Given the description of an element on the screen output the (x, y) to click on. 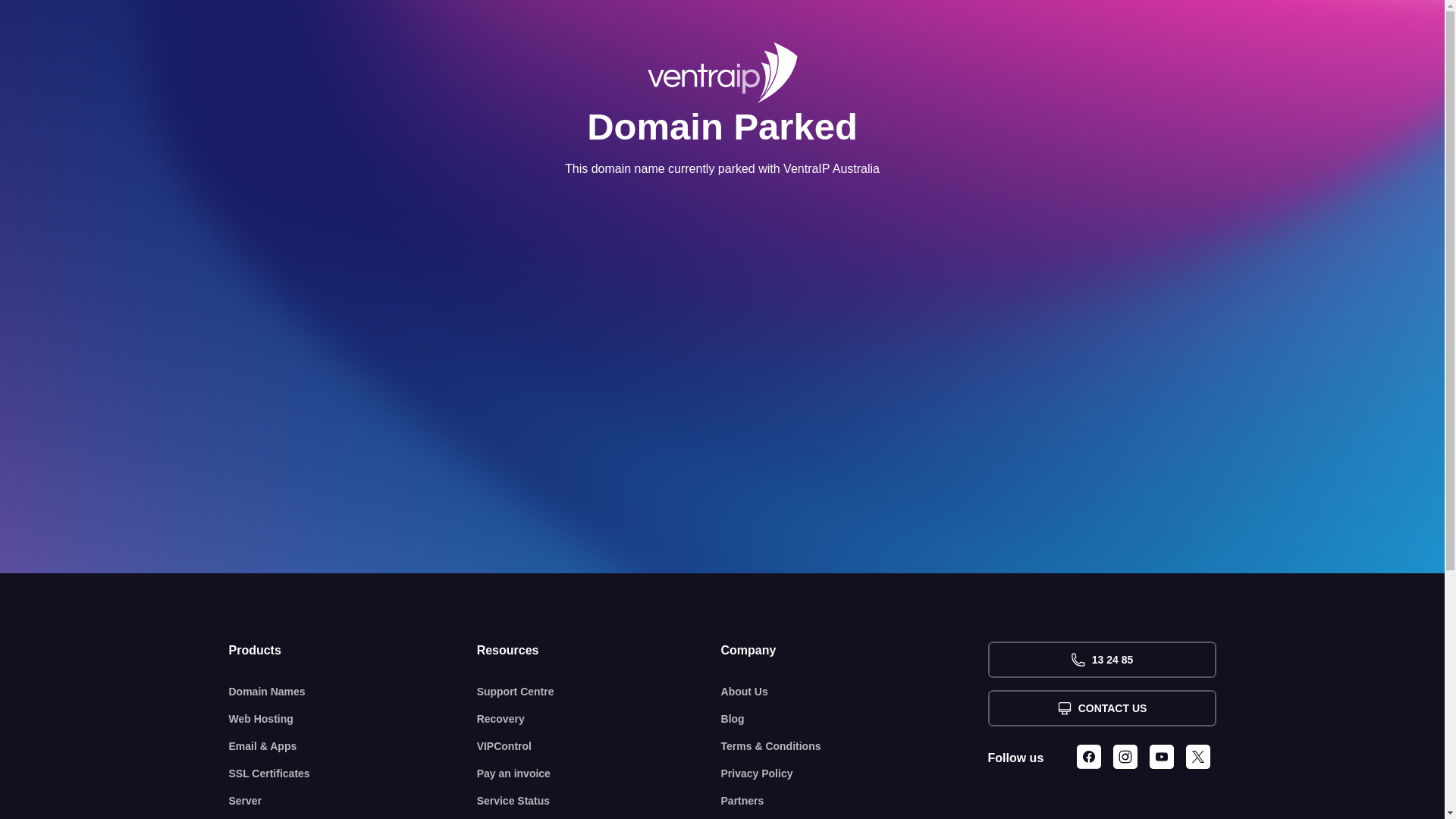
Domain Names Element type: text (352, 691)
Pay an invoice Element type: text (598, 773)
Support Centre Element type: text (598, 691)
Blog Element type: text (854, 718)
Recovery Element type: text (598, 718)
SSL Certificates Element type: text (352, 773)
Server Element type: text (352, 800)
Partners Element type: text (854, 800)
Web Hosting Element type: text (352, 718)
VIPControl Element type: text (598, 745)
CONTACT US Element type: text (1101, 708)
Terms & Conditions Element type: text (854, 745)
About Us Element type: text (854, 691)
Email & Apps Element type: text (352, 745)
Privacy Policy Element type: text (854, 773)
13 24 85 Element type: text (1101, 659)
Service Status Element type: text (598, 800)
